Given the description of an element on the screen output the (x, y) to click on. 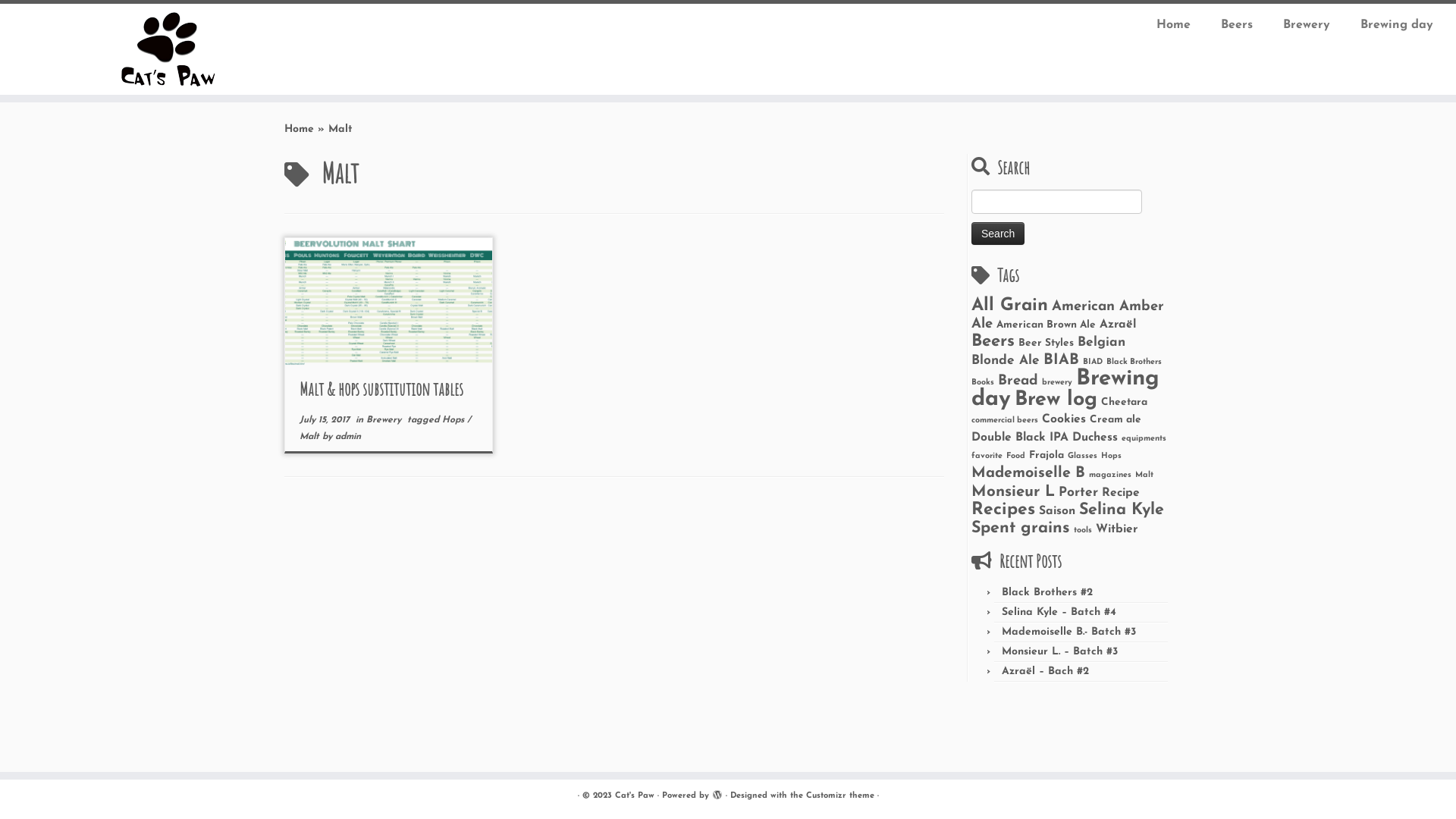
favorite Element type: text (986, 455)
tools Element type: text (1082, 530)
Brewing day Element type: text (1389, 24)
Search Element type: text (997, 233)
Brewery Element type: text (385, 419)
Food Element type: text (1015, 455)
Glasses Element type: text (1082, 455)
Bread Element type: text (1017, 380)
Mademoiselle B.- Batch #3 Element type: text (1068, 631)
Beers Element type: text (1236, 24)
Recipe Element type: text (1120, 492)
Home Element type: text (1173, 24)
Belgian Blonde Ale Element type: text (1048, 351)
Black Brothers Element type: text (1133, 361)
Brewery Element type: text (1306, 24)
Brewing day Element type: text (1065, 388)
Porter Element type: text (1078, 492)
American Amber Ale Element type: text (1067, 315)
Cream ale Element type: text (1115, 419)
admin Element type: text (347, 436)
Black Brothers #2 Element type: text (1046, 592)
commercial beers Element type: text (1004, 420)
Saison Element type: text (1056, 511)
Cat's Paw Element type: text (633, 795)
Mademoiselle B Element type: text (1028, 472)
brewery Element type: text (1056, 382)
BIAB Element type: text (1061, 359)
All Grain Element type: text (1009, 305)
Hops Element type: text (1111, 455)
Books Element type: text (982, 382)
Malt Element type: text (310, 436)
American Brown Ale Element type: text (1045, 324)
Selina Kyle Element type: text (1121, 509)
magazines Element type: text (1109, 474)
Duchess Element type: text (1094, 437)
Witbier Element type: text (1116, 529)
equipments Element type: text (1143, 438)
Beer Styles Element type: text (1045, 343)
Beers Element type: text (992, 341)
Monsieur L Element type: text (1012, 491)
Recipes Element type: text (1003, 509)
Cheetara Element type: text (1124, 402)
BIAD Element type: text (1092, 361)
Spent grains Element type: text (1020, 528)
Cookies Element type: text (1063, 419)
Frajola Element type: text (1046, 455)
Brew log Element type: text (1055, 399)
Malt Element type: text (1144, 474)
Double Black IPA Element type: text (1019, 437)
Home Element type: text (298, 128)
Hops Element type: text (454, 419)
Powered by WordPress Element type: hover (716, 792)
July 15, 2017 Element type: text (324, 419)
Customizr theme Element type: text (839, 795)
Malt & hops substitution tables Element type: text (381, 388)
